Given the description of an element on the screen output the (x, y) to click on. 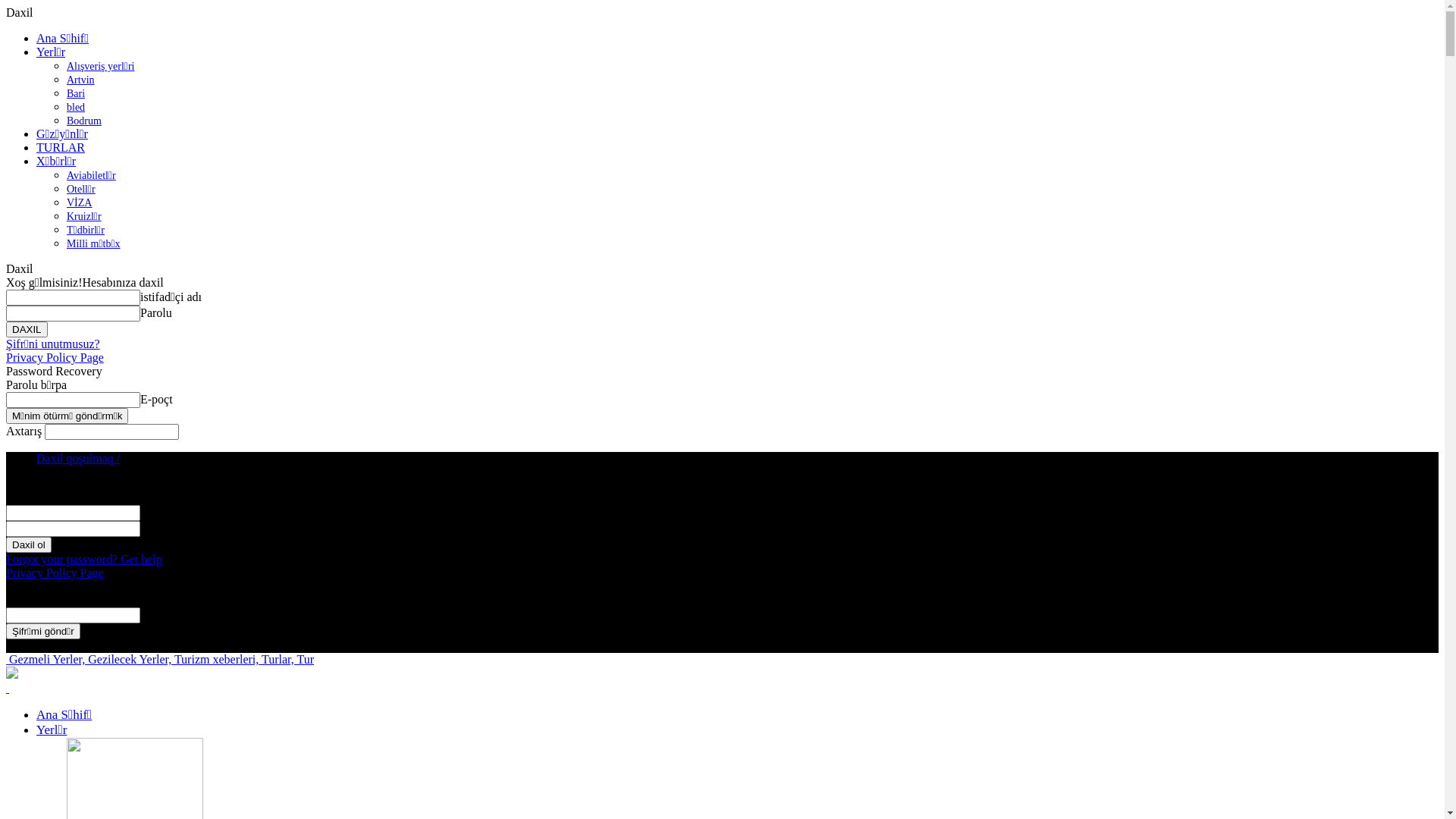
Privacy Policy Page Element type: text (54, 357)
bled Element type: text (75, 106)
Bodrum Element type: text (83, 120)
Artvin Element type: text (80, 79)
TURLAR Element type: text (60, 147)
Forgot your password? Get help Element type: text (84, 558)
Privacy Policy Page Element type: text (54, 572)
Daxil Element type: text (19, 12)
Bari Element type: text (75, 93)
